Given the description of an element on the screen output the (x, y) to click on. 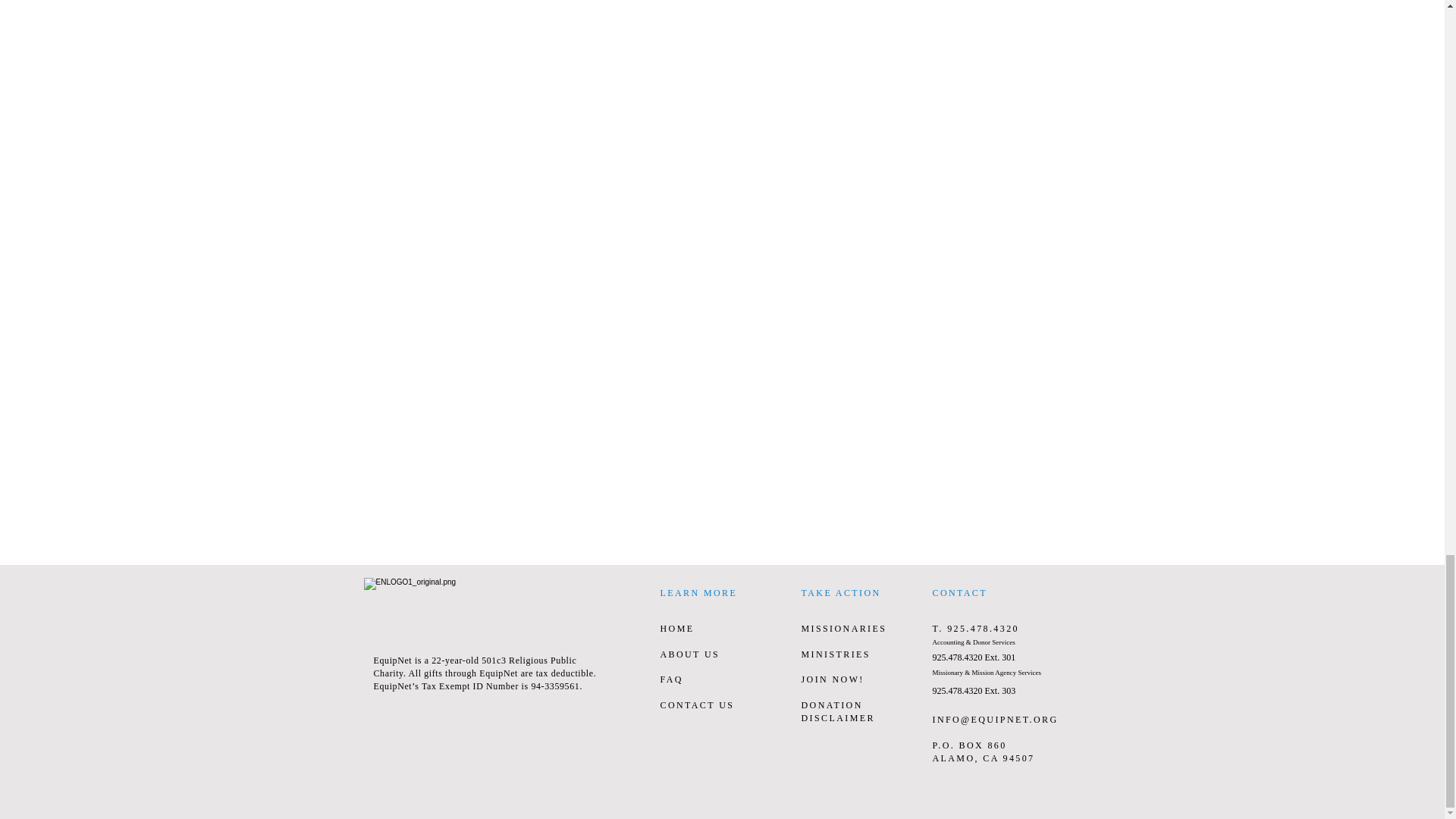
MISSIONARIES (843, 628)
DISCLAIMER (837, 717)
MINISTRIES (834, 654)
HOME (676, 628)
CONTACT US (696, 705)
JOIN NOW! (831, 679)
FAQ (670, 679)
ABOUT US (689, 654)
DONATION (830, 705)
